Given the description of an element on the screen output the (x, y) to click on. 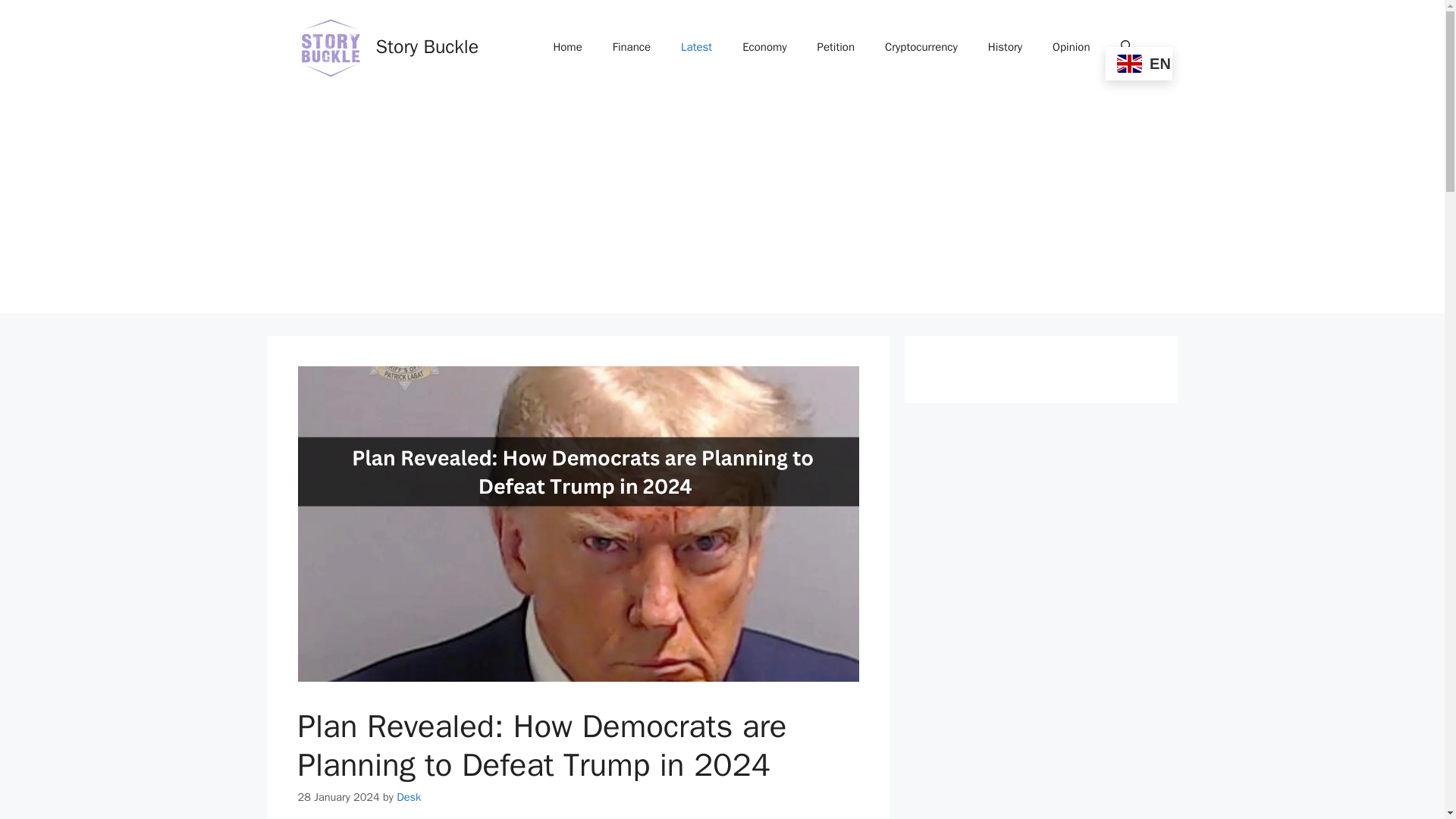
History (1004, 46)
Desk (408, 796)
Home (566, 46)
View all posts by Desk (408, 796)
Cryptocurrency (920, 46)
Petition (835, 46)
Economy (764, 46)
Latest (695, 46)
Story Buckle (427, 46)
Finance (630, 46)
Opinion (1070, 46)
